Given the description of an element on the screen output the (x, y) to click on. 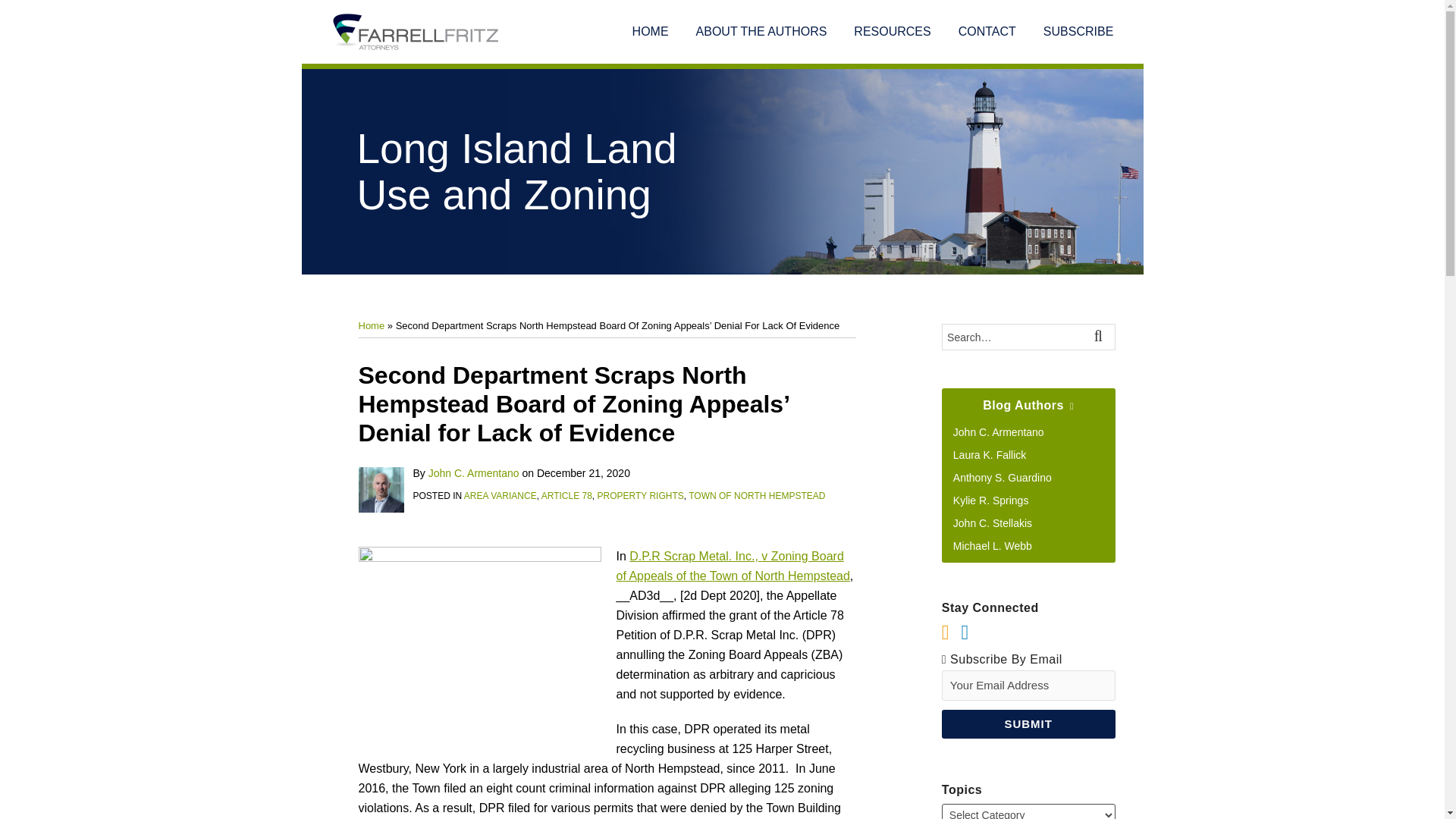
Anthony S. Guardino (1002, 477)
TOWN OF NORTH HEMPSTEAD (756, 495)
SUBSCRIBE (1078, 31)
Long Island Land Use and Zoning (516, 171)
Home (371, 325)
SEARCH (1101, 336)
Kylie R. Springs (991, 500)
Michael L. Webb (992, 545)
AREA VARIANCE (500, 495)
